Given the description of an element on the screen output the (x, y) to click on. 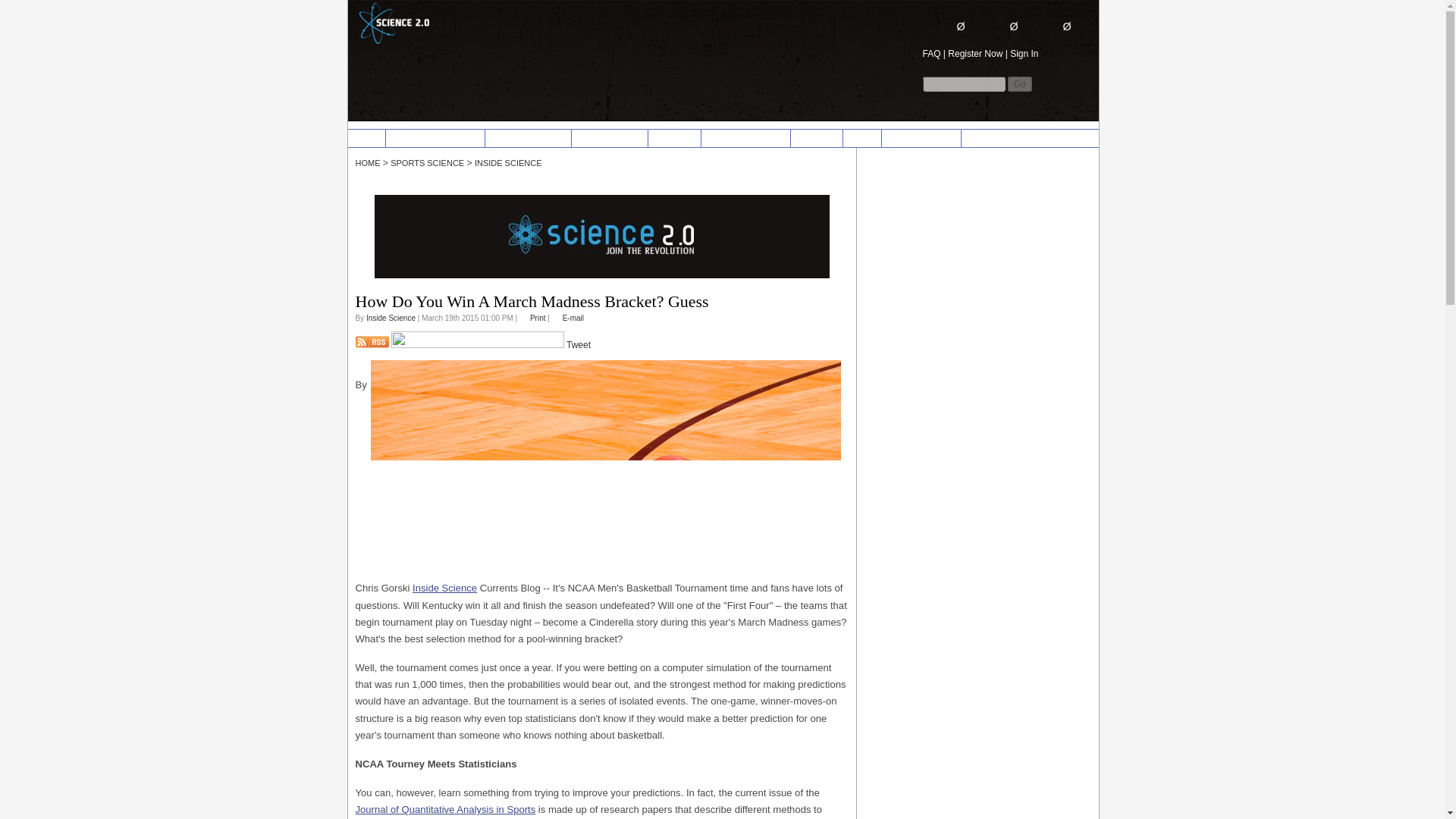
View user profile. (390, 317)
HOME (365, 138)
Go (1019, 83)
Sign in and track comments on your writing... (1005, 30)
PHYSICAL SCIENCES (434, 138)
FAQ (930, 53)
LIFE SCIENCES (609, 138)
MEDICINE (674, 138)
Go (1019, 83)
Sign in and see comments by people on your friends list... (1054, 26)
EARTH SCIENCES (527, 138)
Enter the terms you wish to search for. (962, 83)
Register Now (975, 53)
